Given the description of an element on the screen output the (x, y) to click on. 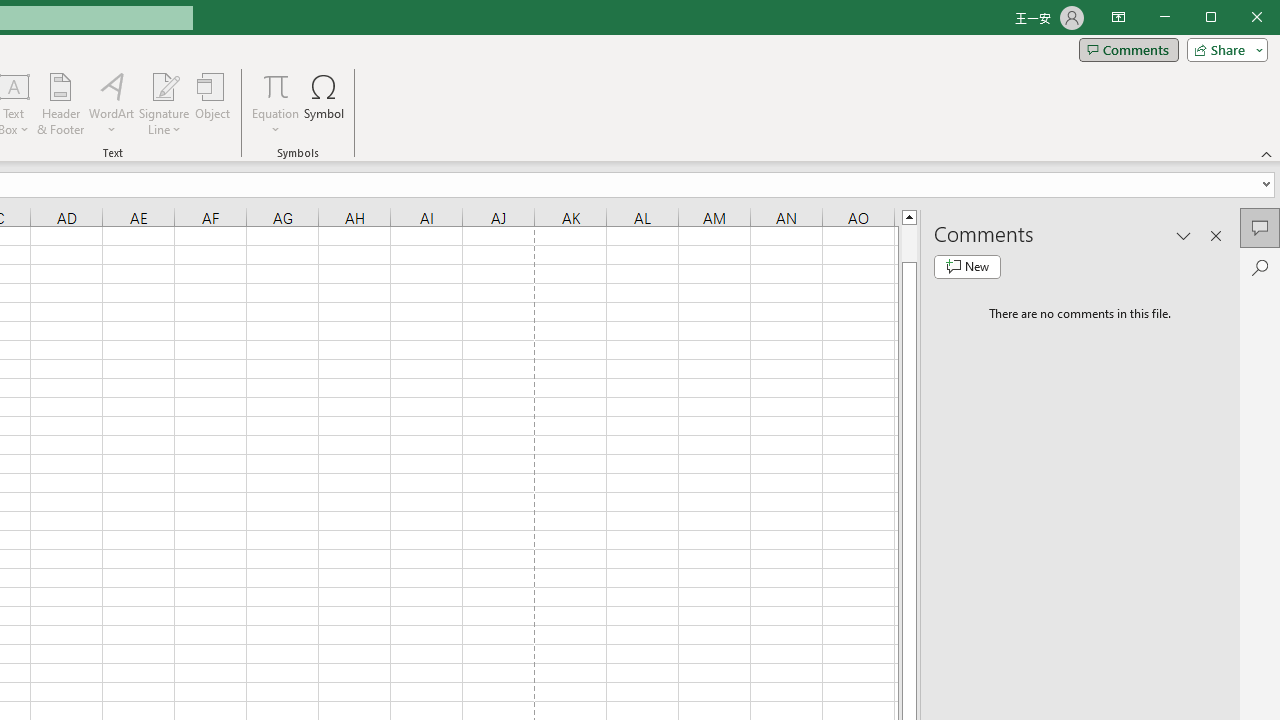
Signature Line (164, 104)
Close pane (1215, 235)
Header & Footer... (60, 104)
Equation (275, 104)
Search (1260, 267)
Ribbon Display Options (1118, 17)
Object... (213, 104)
Share (1223, 49)
Line up (909, 216)
